Given the description of an element on the screen output the (x, y) to click on. 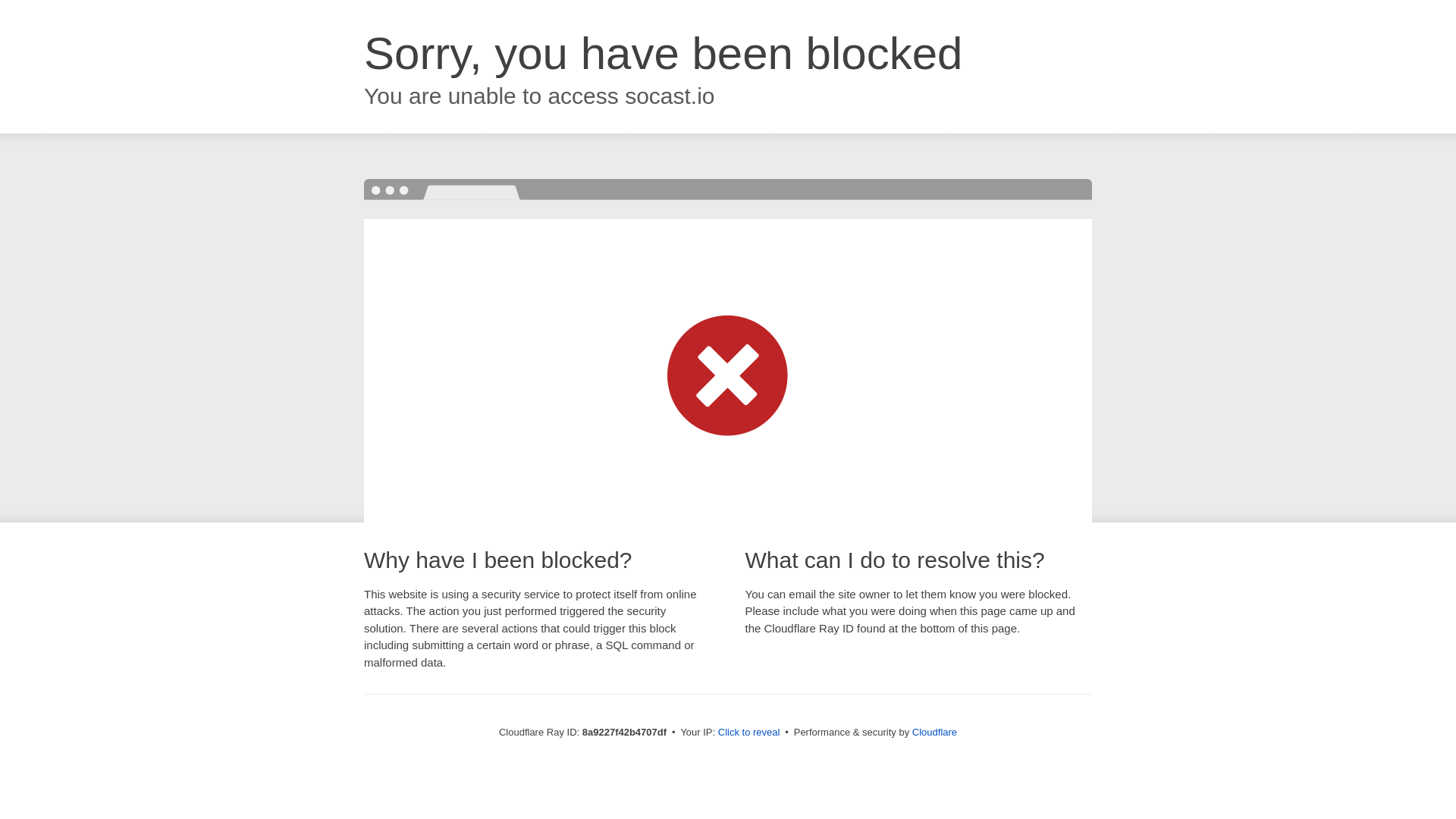
Click to reveal (748, 732)
Cloudflare (934, 731)
